Given the description of an element on the screen output the (x, y) to click on. 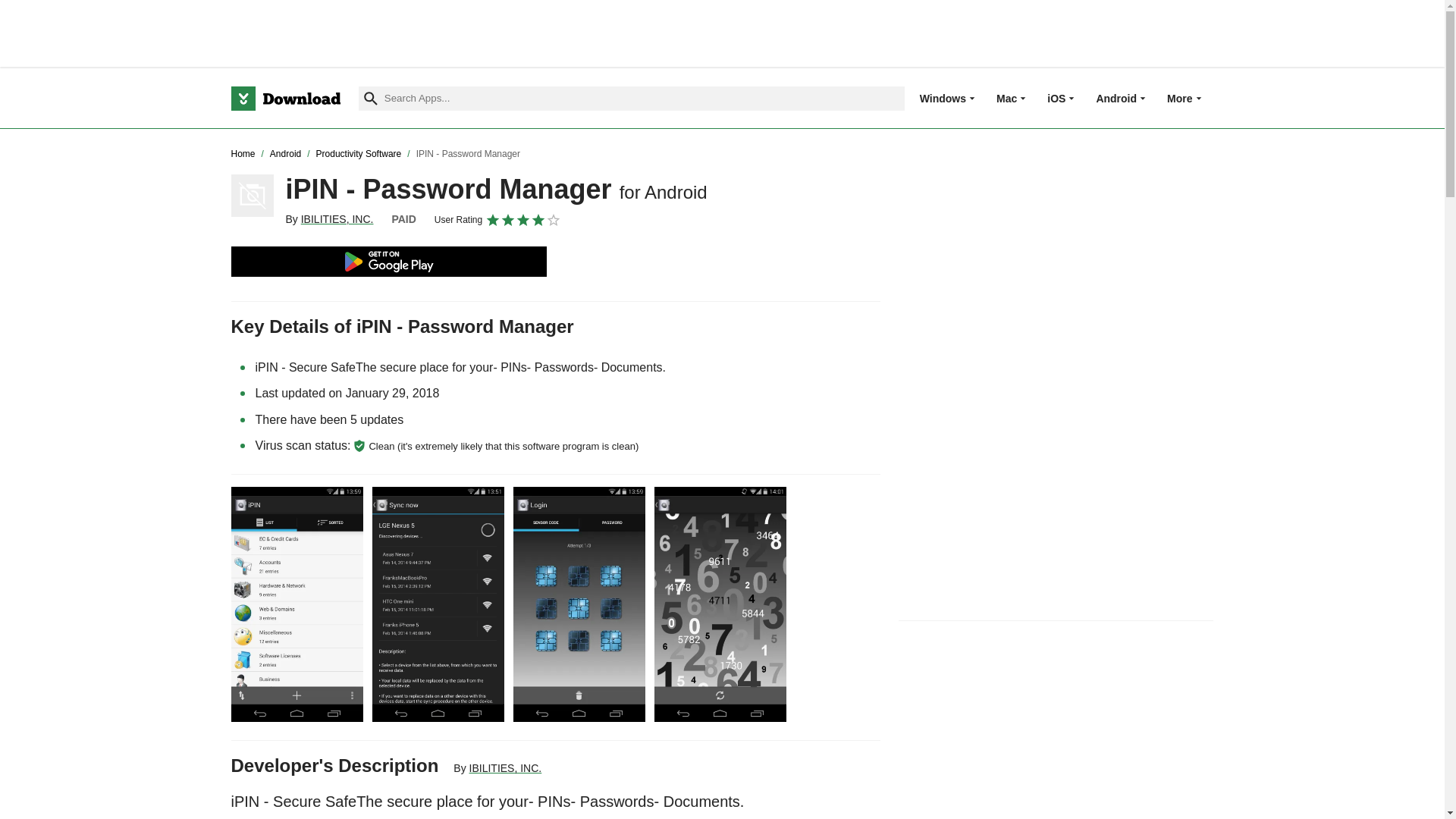
iPIN - Password Manager for Android (251, 195)
Mac (1005, 97)
Get it on Google Play (388, 261)
Windows (943, 97)
